Given the description of an element on the screen output the (x, y) to click on. 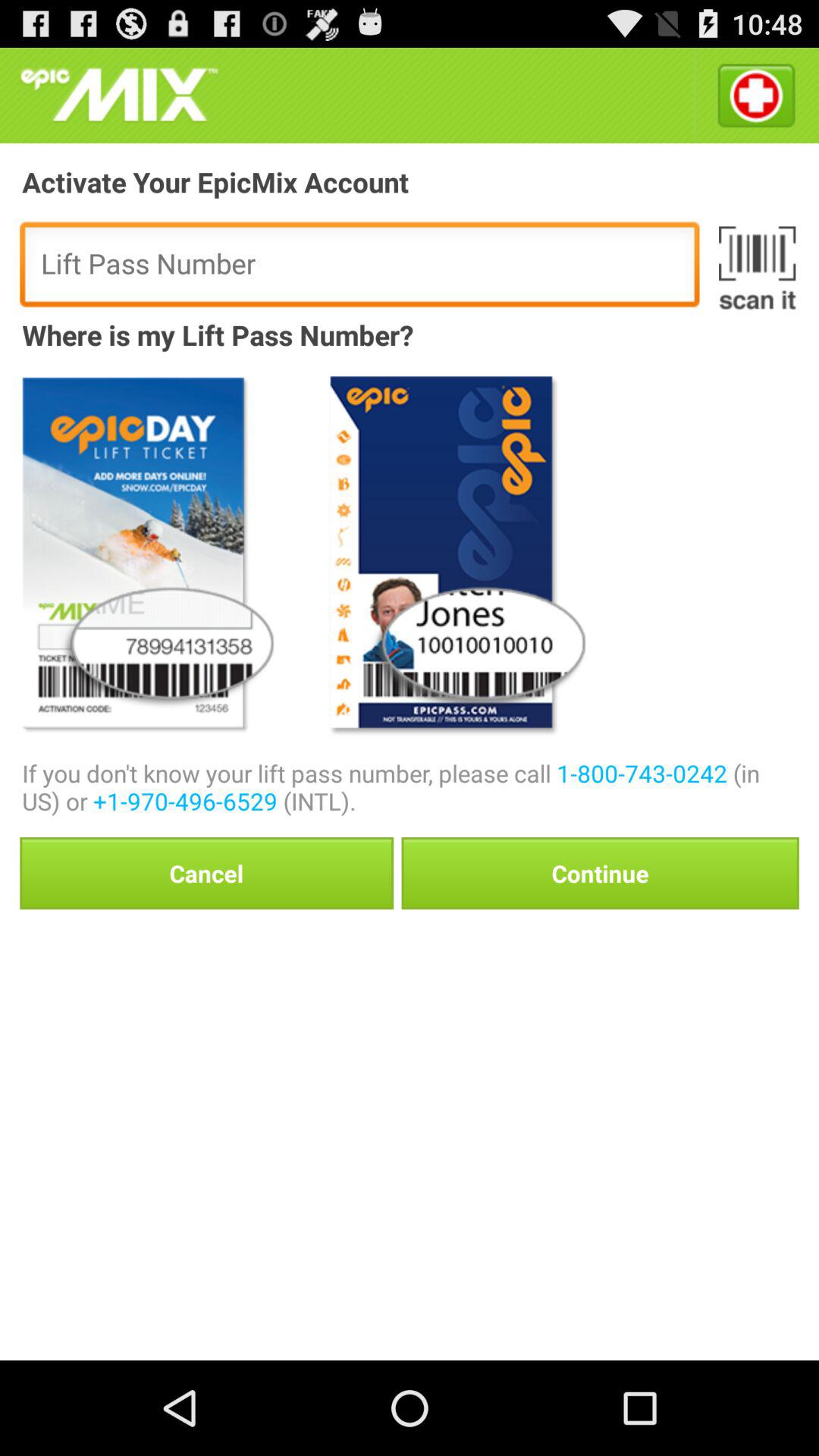
press the app above the where is my icon (757, 267)
